Given the description of an element on the screen output the (x, y) to click on. 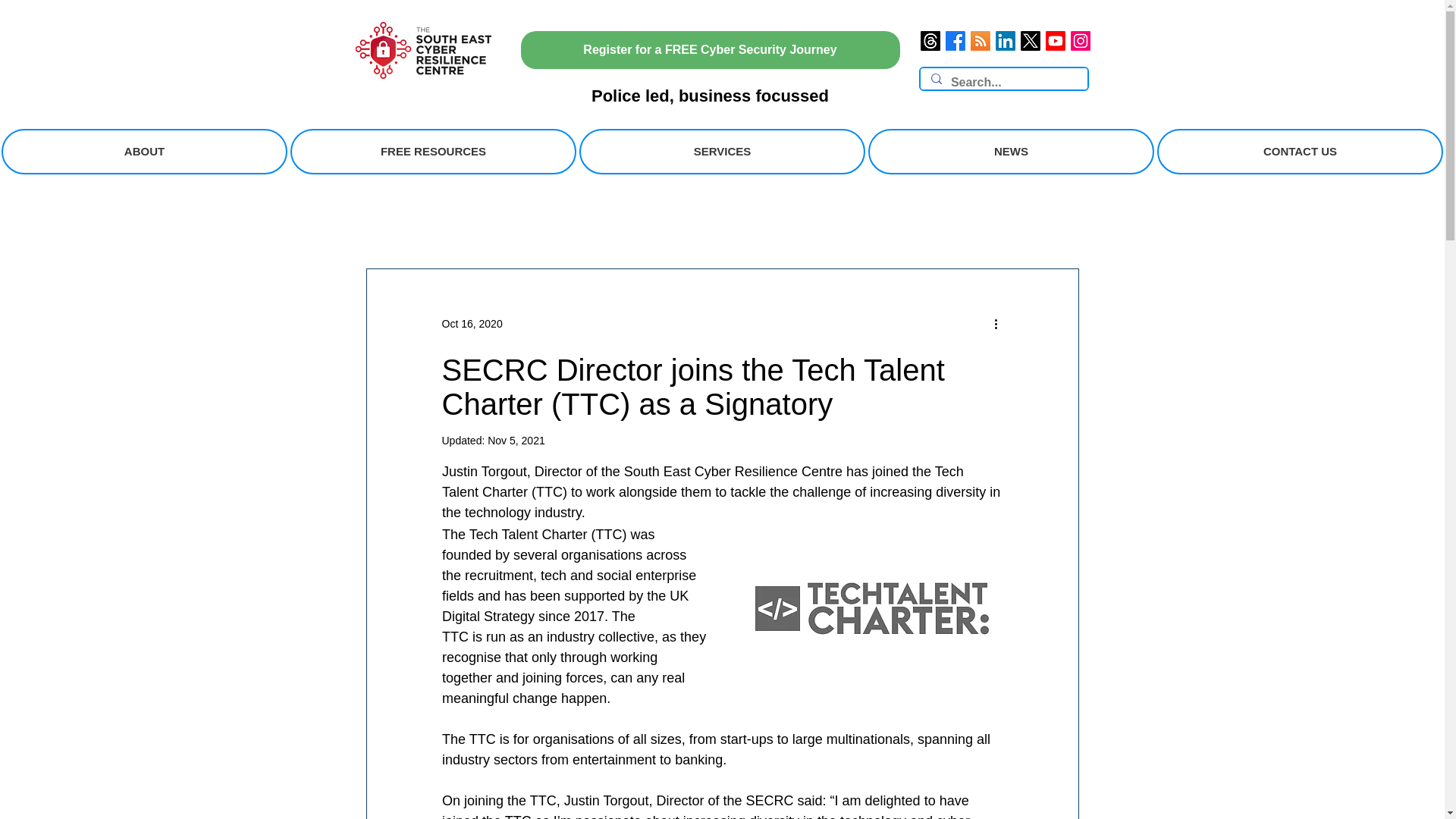
Register for a FREE Cyber Security Journey (709, 49)
Oct 16, 2020 (471, 322)
Nov 5, 2021 (515, 440)
